Given the description of an element on the screen output the (x, y) to click on. 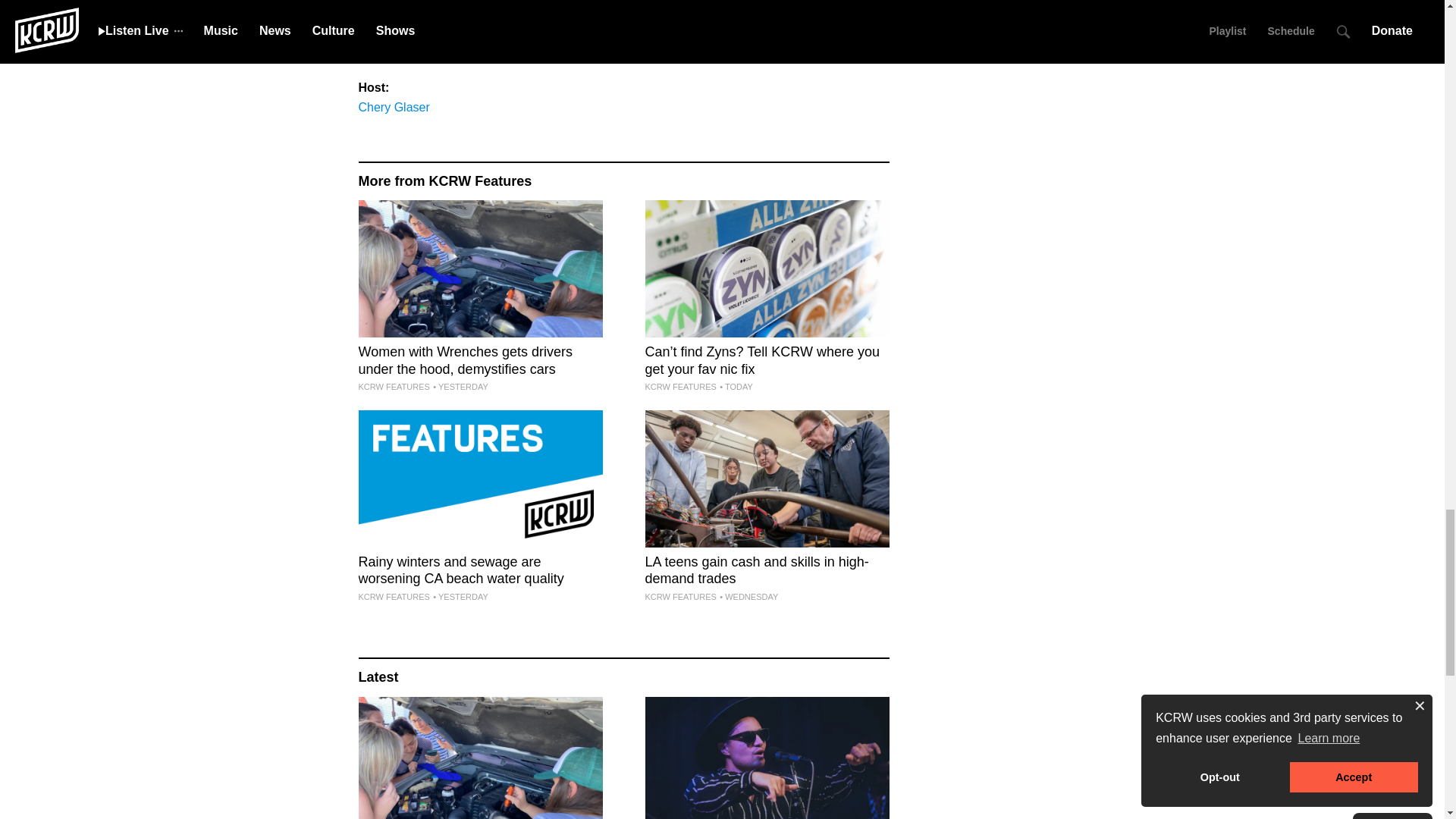
Thursday, July 18th 2024, 3:00 pm (459, 596)
Thursday, July 18th 2024, 3:00 pm (459, 386)
Wednesday, July 17th 2024, 3:00 pm (748, 596)
Friday, July 19th 2024, 1:58 am (735, 386)
